Given the description of an element on the screen output the (x, y) to click on. 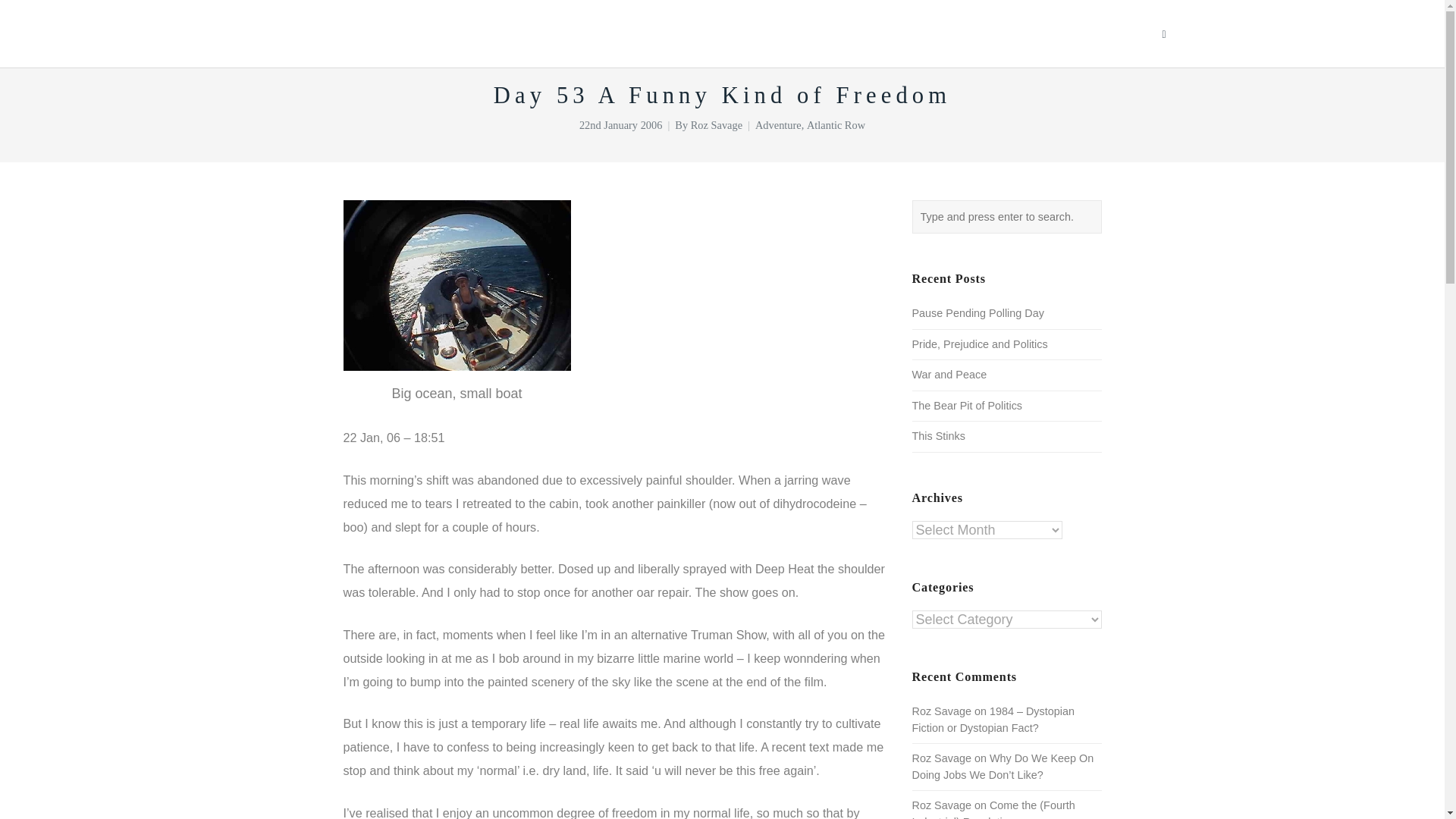
War and Peace (949, 374)
Pride, Prejudice and Politics (978, 344)
View all posts in Adventure (778, 124)
Atlantic Row (835, 124)
Adventure (778, 124)
Podcast (966, 33)
Pause Pending Polling Day (977, 313)
Speaker (790, 33)
View all posts in Atlantic Row (835, 124)
Roz Savage (716, 124)
